Given the description of an element on the screen output the (x, y) to click on. 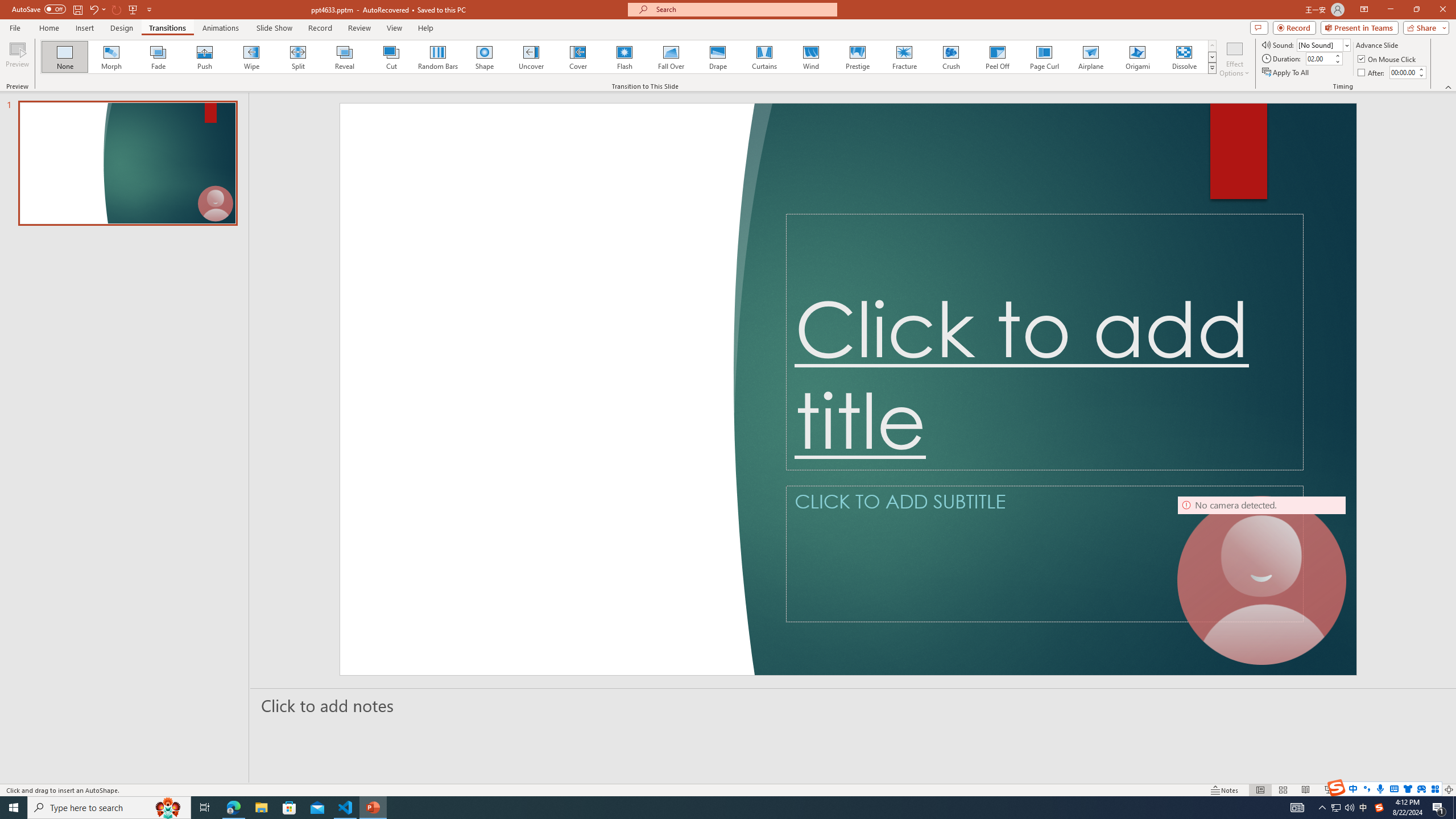
After (1372, 72)
Peel Off (997, 56)
Push (205, 56)
Page Curl (1043, 56)
